Given the description of an element on the screen output the (x, y) to click on. 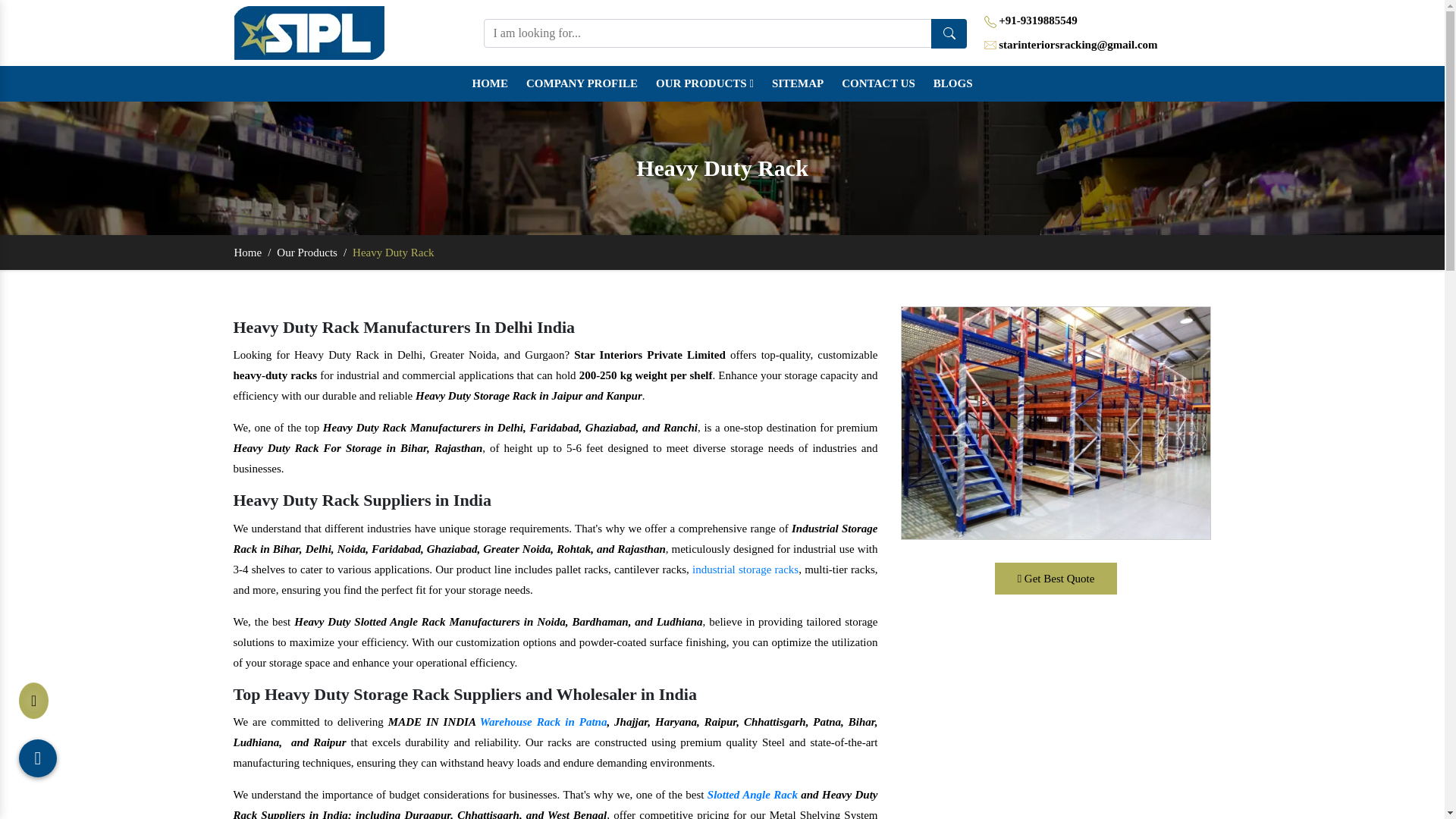
COMPANY PROFILE (581, 83)
Home (489, 83)
OUR PRODUCTS (704, 83)
Mail Us (989, 44)
Star Interiors Private Limited (308, 32)
HOME (489, 83)
Search Here (948, 32)
